Given the description of an element on the screen output the (x, y) to click on. 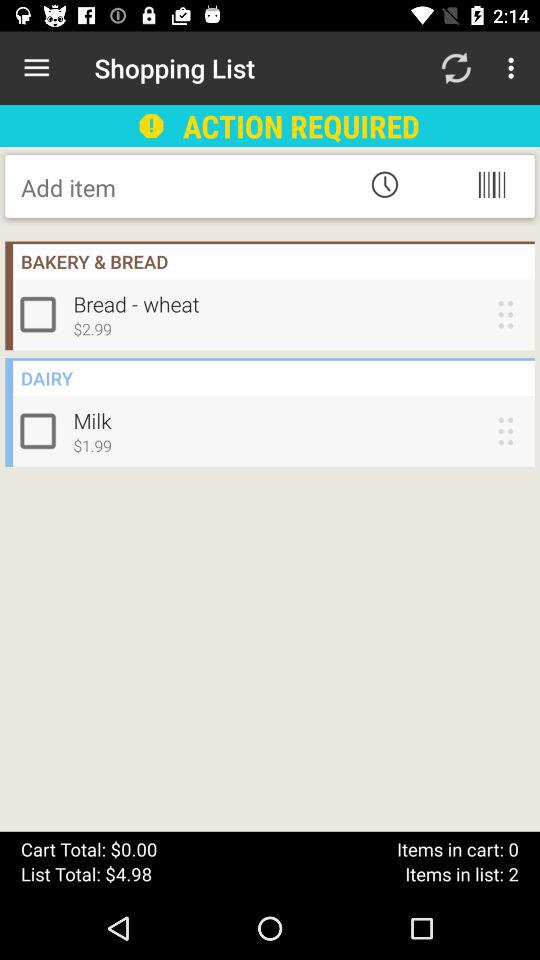
bread wheat tick (41, 314)
